Given the description of an element on the screen output the (x, y) to click on. 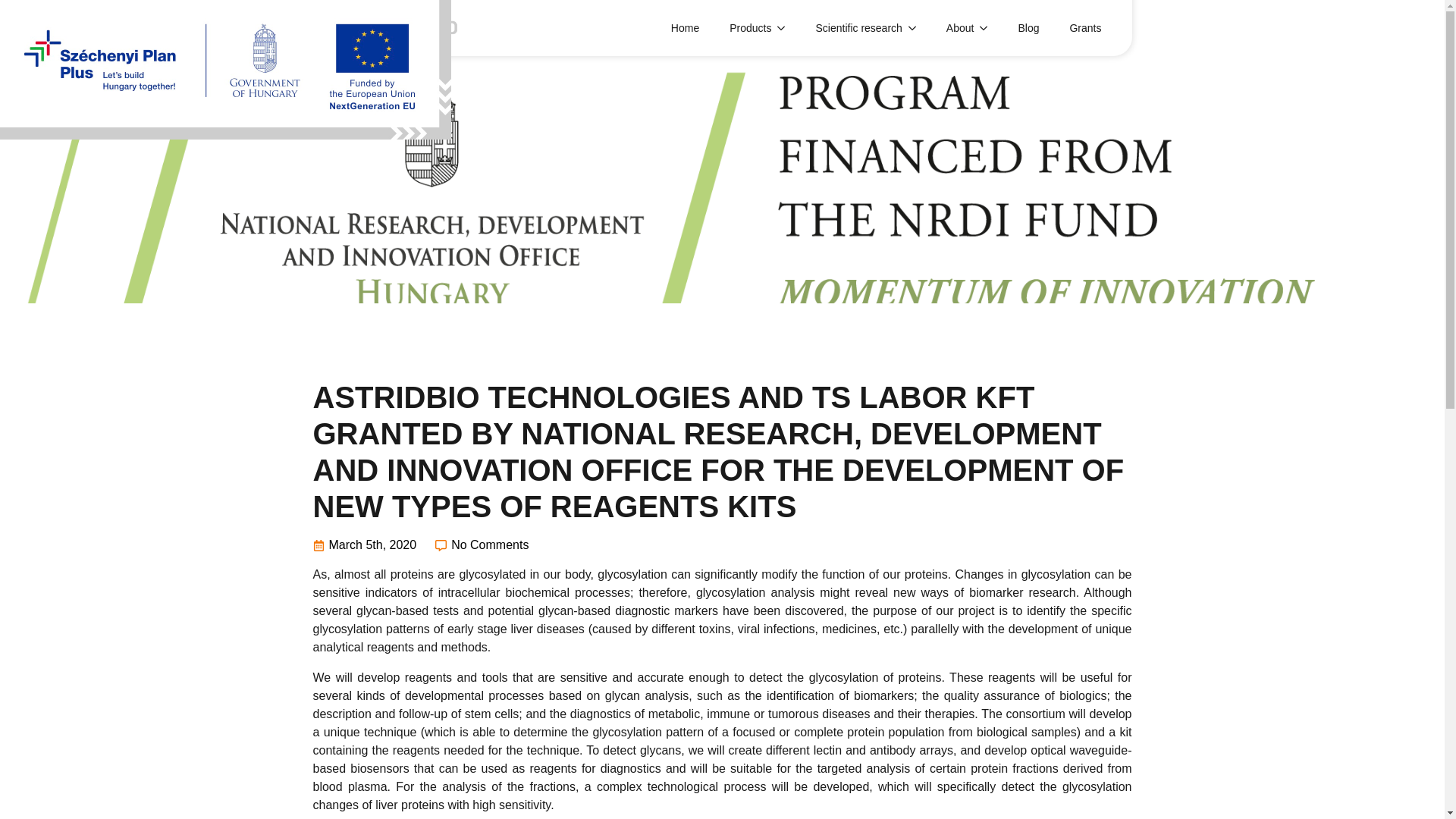
Blog (1028, 27)
Home (685, 27)
Grants (1085, 27)
About (952, 27)
Scientific research (850, 27)
Products (742, 27)
